Given the description of an element on the screen output the (x, y) to click on. 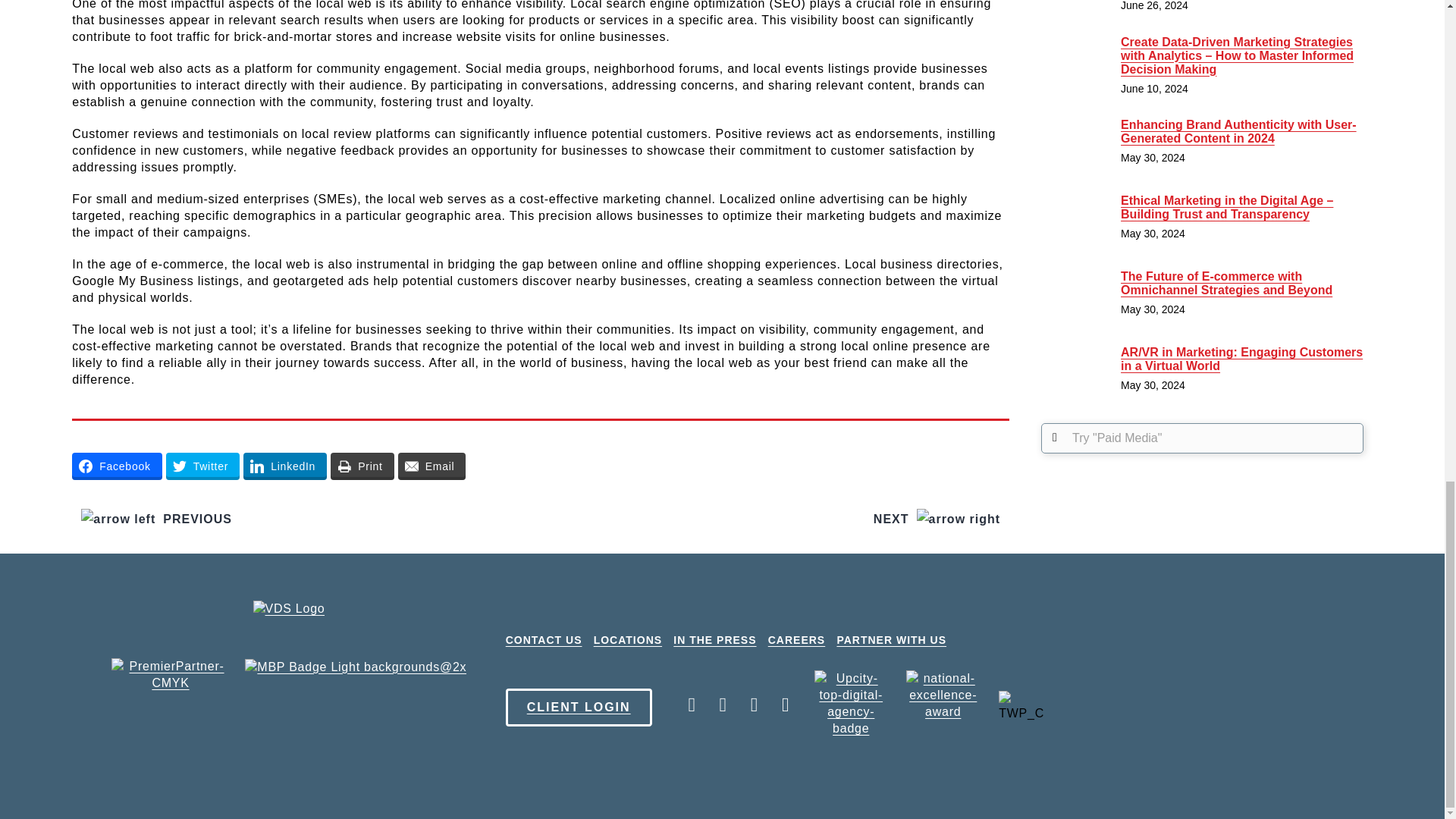
Share on Twitter (202, 465)
Share on Facebook (116, 465)
Share on LinkedIn (284, 465)
Careers (796, 639)
Share on Print (362, 465)
Share on Email (431, 465)
